Given the description of an element on the screen output the (x, y) to click on. 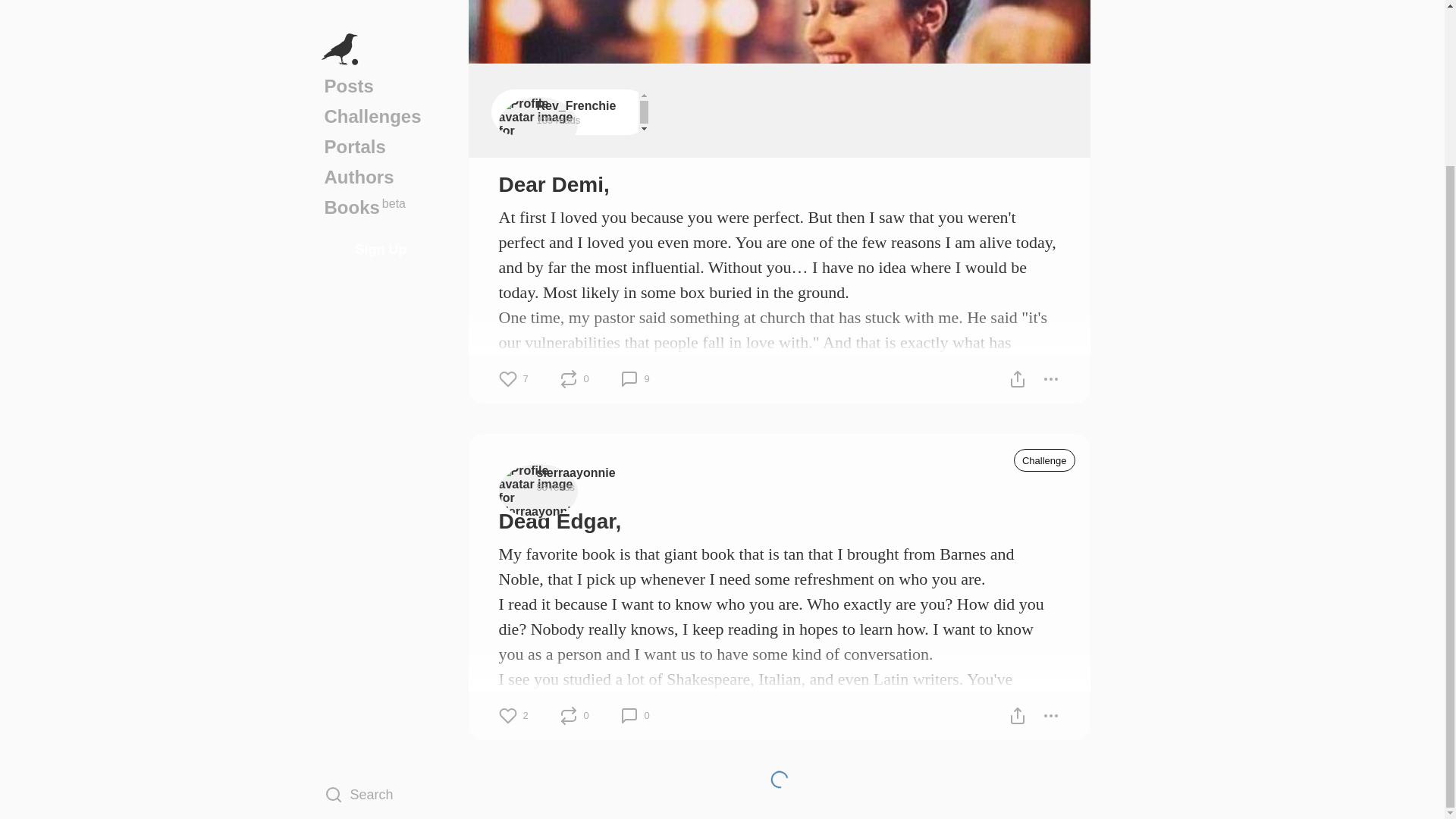
Search (381, 597)
Challenge (1044, 459)
sierraayonnie (576, 472)
